Given the description of an element on the screen output the (x, y) to click on. 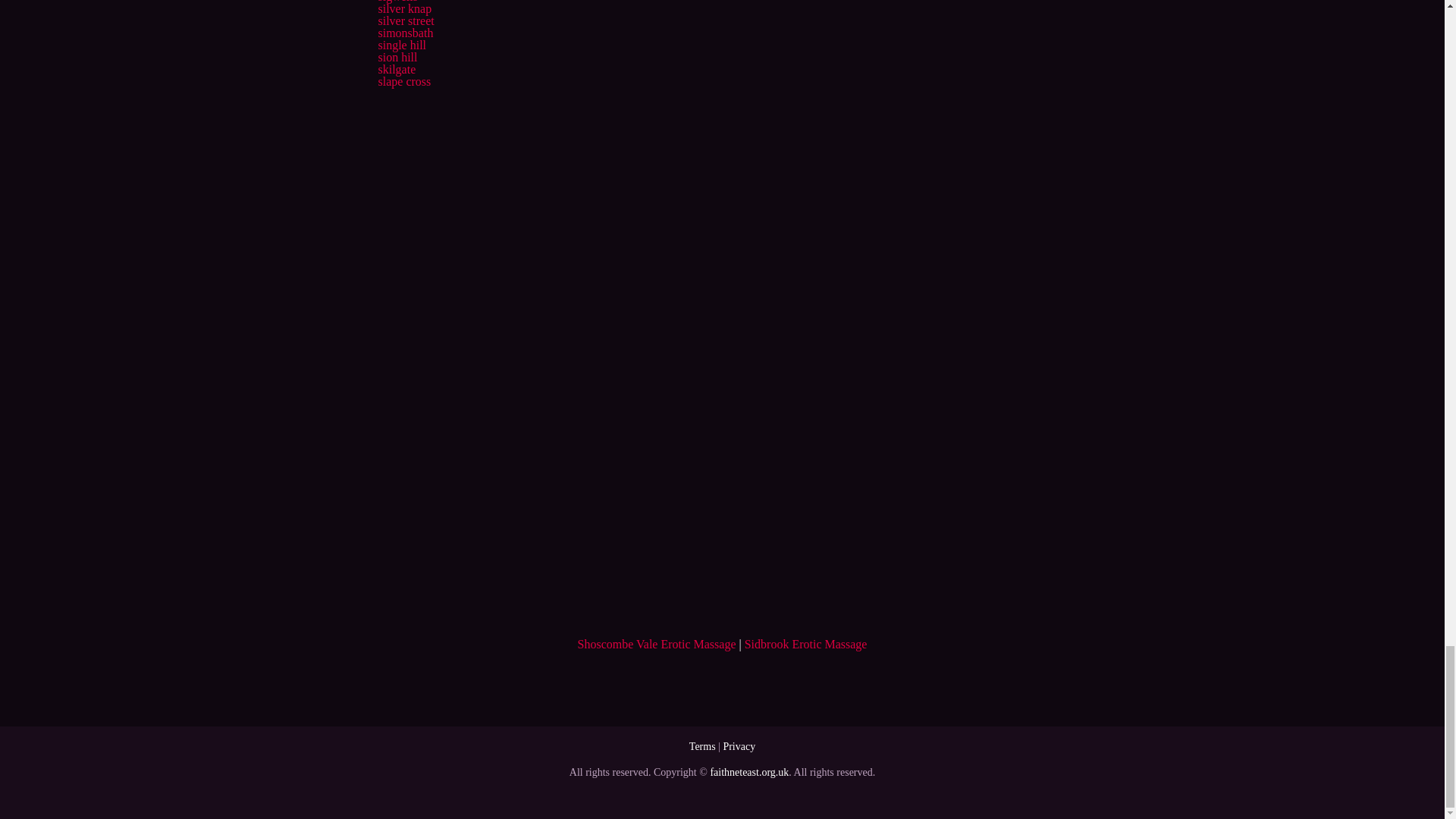
silver knap (403, 8)
simonsbath (404, 32)
Shoscombe Vale Erotic Massage (657, 644)
silver street (405, 20)
slape cross (403, 81)
Terms (702, 746)
faithneteast.org.uk (749, 772)
sigwells (396, 1)
single hill (401, 44)
sion hill (396, 56)
